Given the description of an element on the screen output the (x, y) to click on. 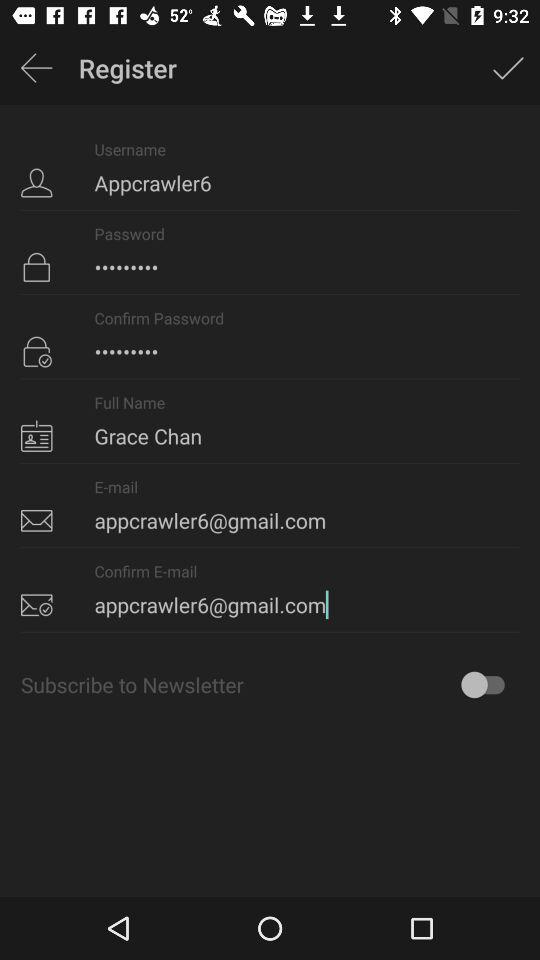
swipe until grace chan (270, 421)
